Given the description of an element on the screen output the (x, y) to click on. 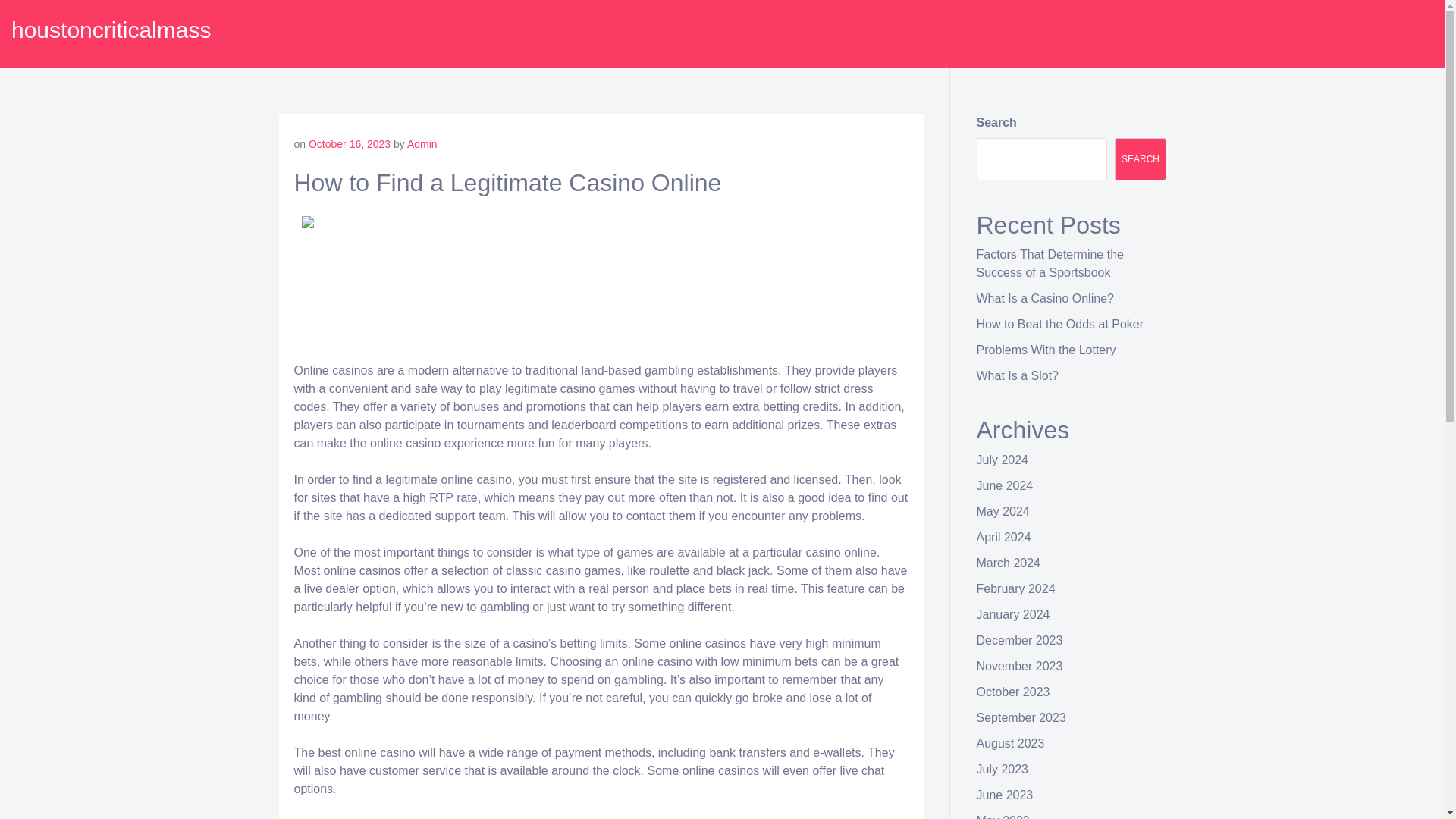
How to Beat the Odds at Poker (1060, 323)
January 2024 (1012, 614)
December 2023 (1019, 640)
What Is a Casino Online? (1044, 297)
August 2023 (1010, 743)
July 2023 (1002, 768)
Problems With the Lottery (1046, 349)
October 16, 2023 (349, 143)
May 2023 (1002, 816)
October 2023 (1012, 691)
Admin (422, 143)
What Is a Slot? (1017, 375)
June 2024 (1004, 485)
June 2023 (1004, 794)
July 2024 (1002, 459)
